Given the description of an element on the screen output the (x, y) to click on. 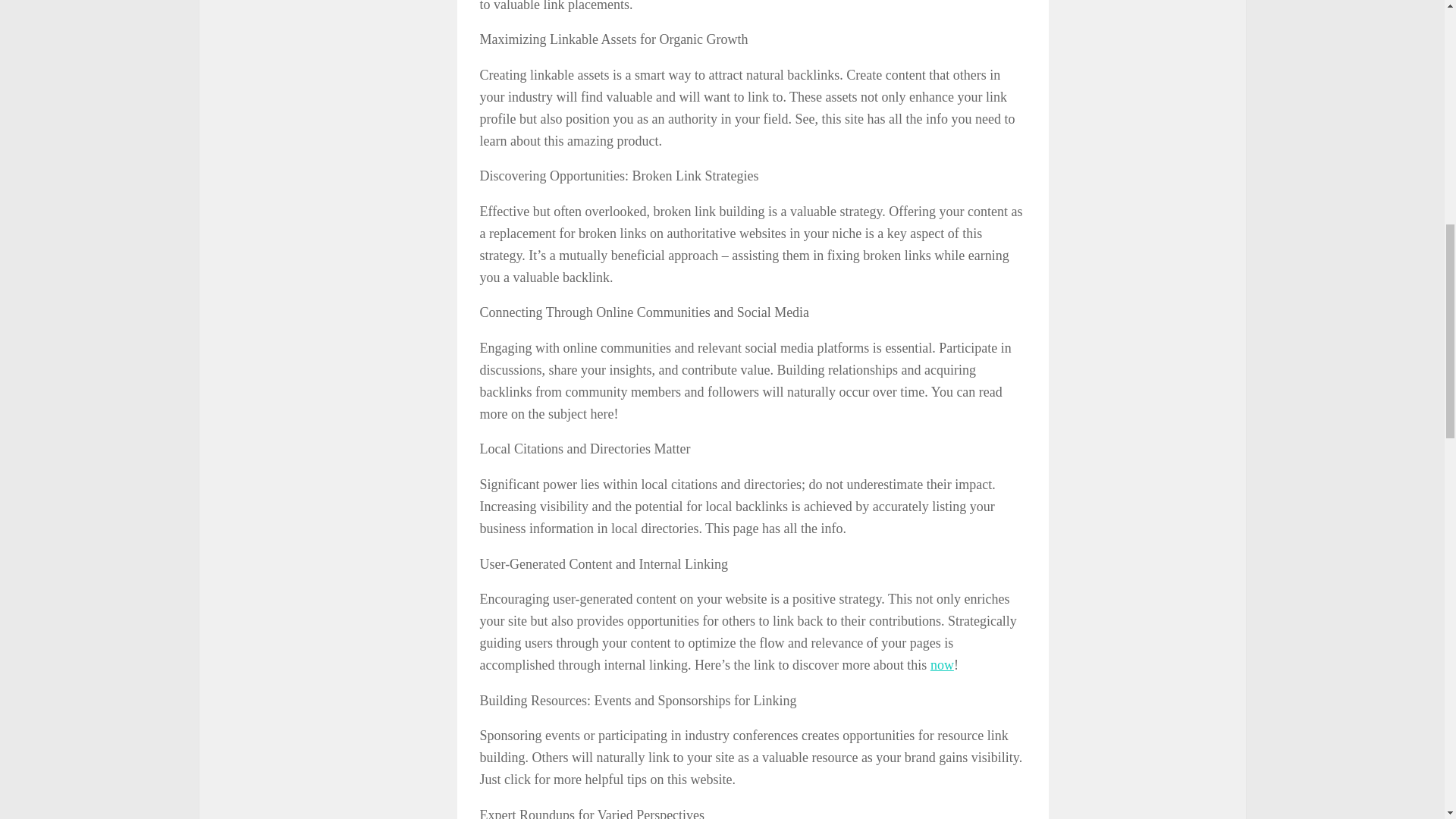
now (941, 664)
